Given the description of an element on the screen output the (x, y) to click on. 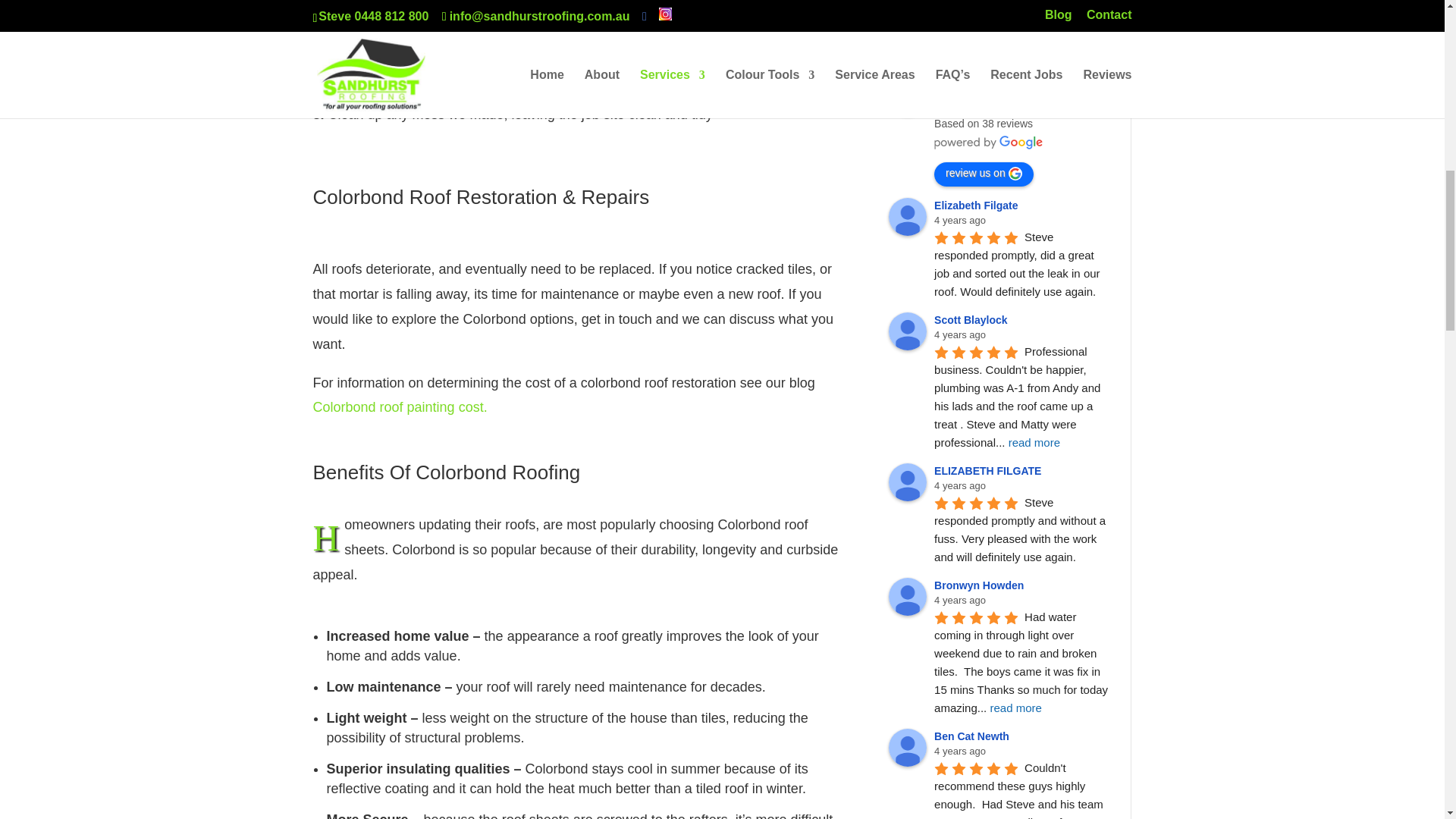
ELIZABETH FILGATE (907, 482)
Ben Cat Newth (907, 747)
powered by Google (988, 142)
Elizabeth Filgate (907, 216)
Sandhurst Roofing (907, 95)
Bronwyn Howden (907, 596)
Scott Blaylock (907, 331)
